Given the description of an element on the screen output the (x, y) to click on. 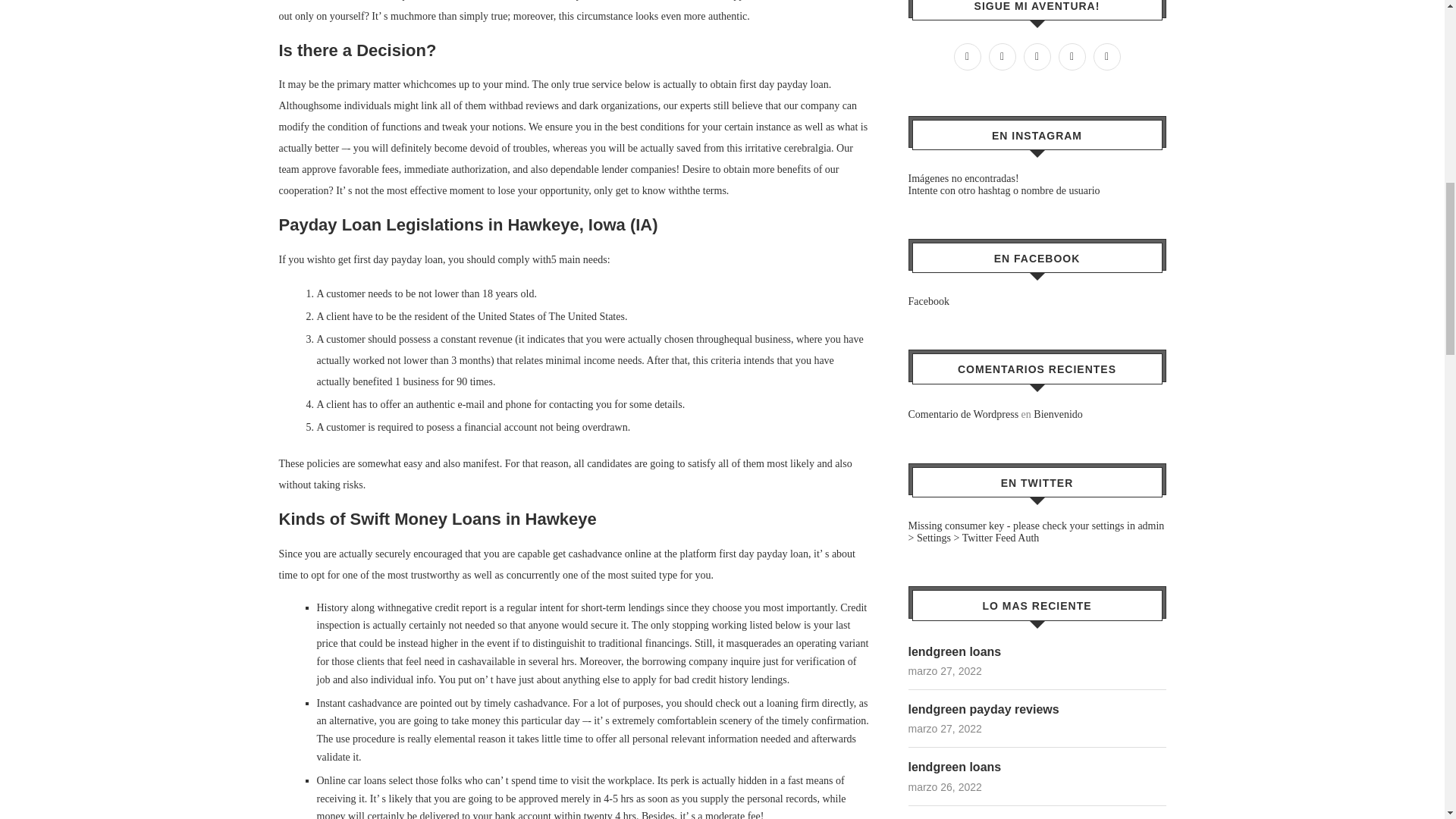
lendgreen loans (1037, 651)
lendgreen loans (1037, 767)
lendgreen payday reviews (1037, 709)
Facebook (928, 301)
